Given the description of an element on the screen output the (x, y) to click on. 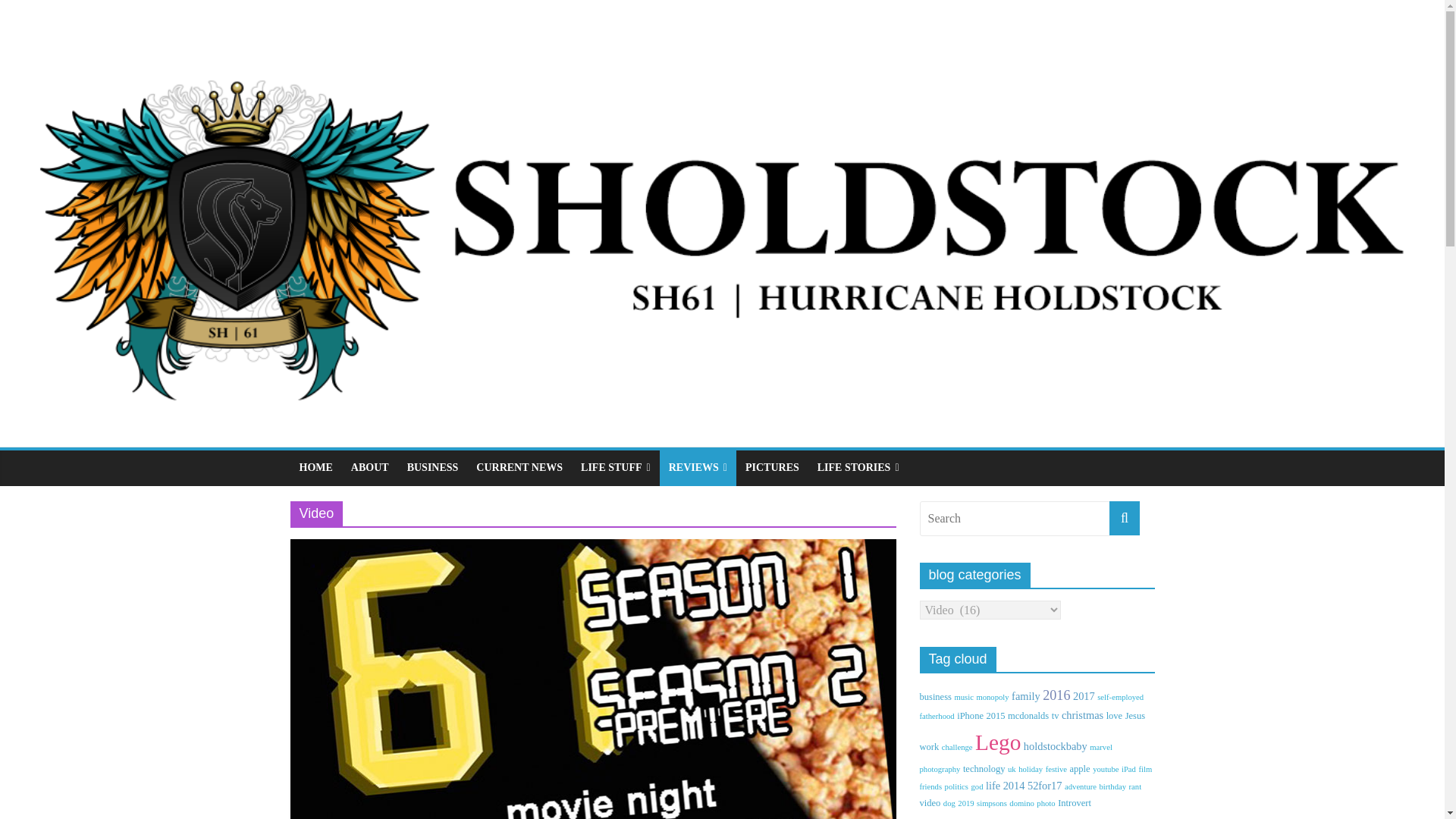
BUSINESS (432, 467)
ABOUT (369, 467)
61 (592, 548)
LIFE STUFF (615, 467)
PICTURES (772, 467)
REVIEWS (697, 467)
HOME (314, 467)
CURRENT NEWS (519, 467)
LIFE STORIES (858, 467)
